Given the description of an element on the screen output the (x, y) to click on. 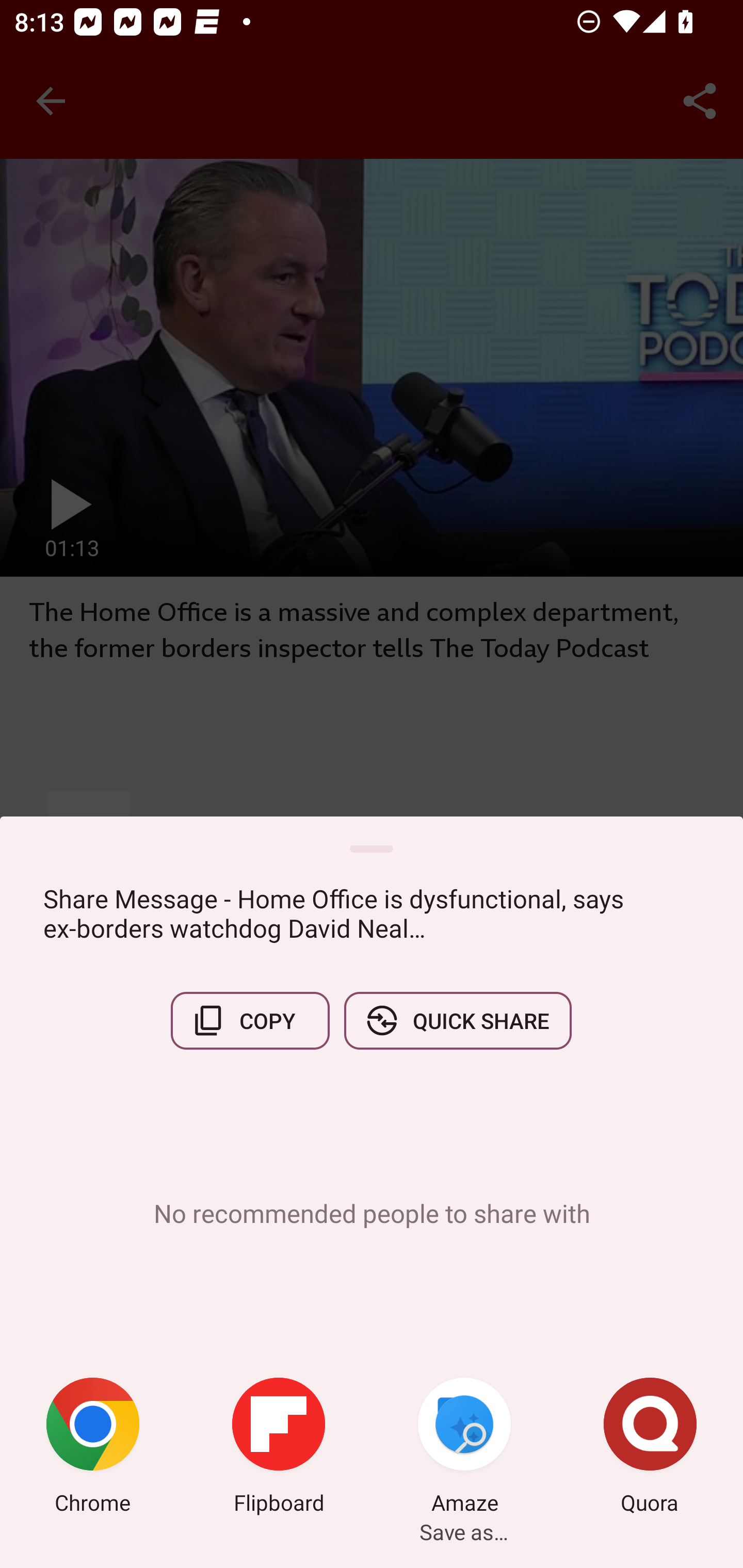
COPY (249, 1020)
QUICK SHARE (457, 1020)
Chrome (92, 1448)
Flipboard (278, 1448)
Amaze Save as… (464, 1448)
Quora (650, 1448)
